Given the description of an element on the screen output the (x, y) to click on. 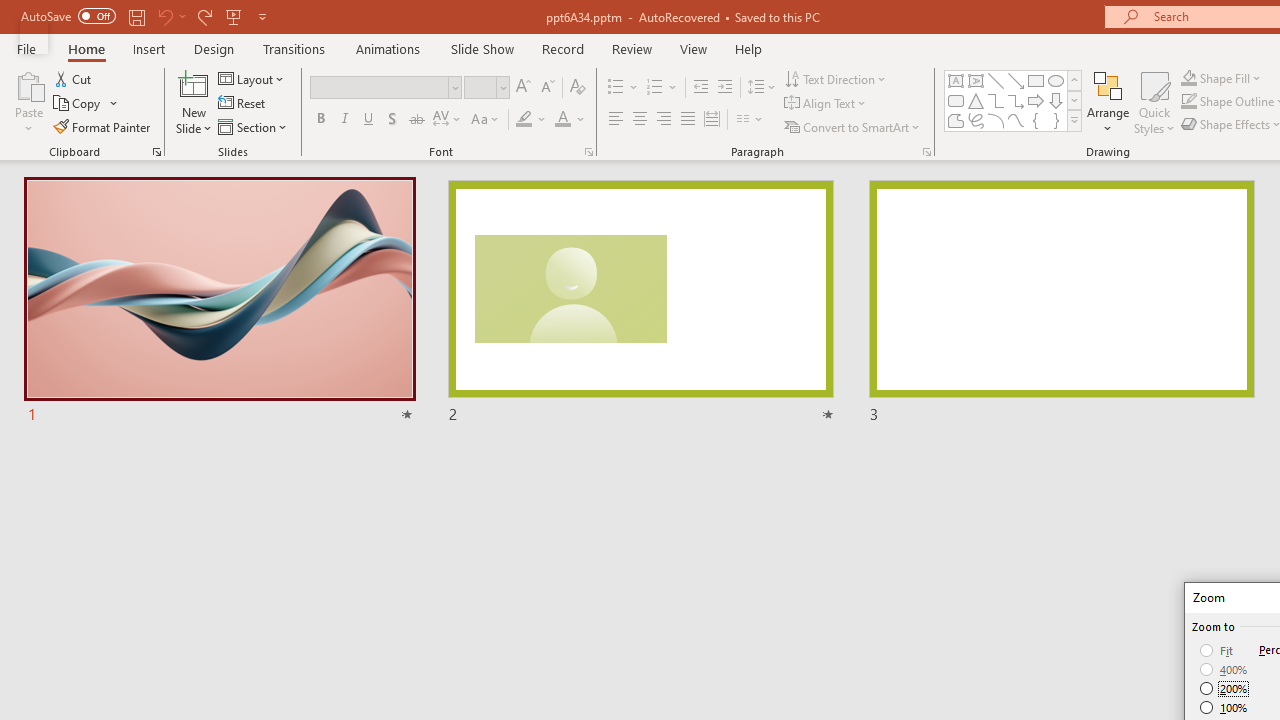
Font... (588, 151)
Oval (1055, 80)
Center (639, 119)
Shapes (1074, 120)
Connector: Elbow (995, 100)
Vertical Text Box (975, 80)
Arrow: Right (1035, 100)
Convert to SmartArt (853, 126)
Font Color (569, 119)
Rectangle: Rounded Corners (955, 100)
Change Case (486, 119)
